Given the description of an element on the screen output the (x, y) to click on. 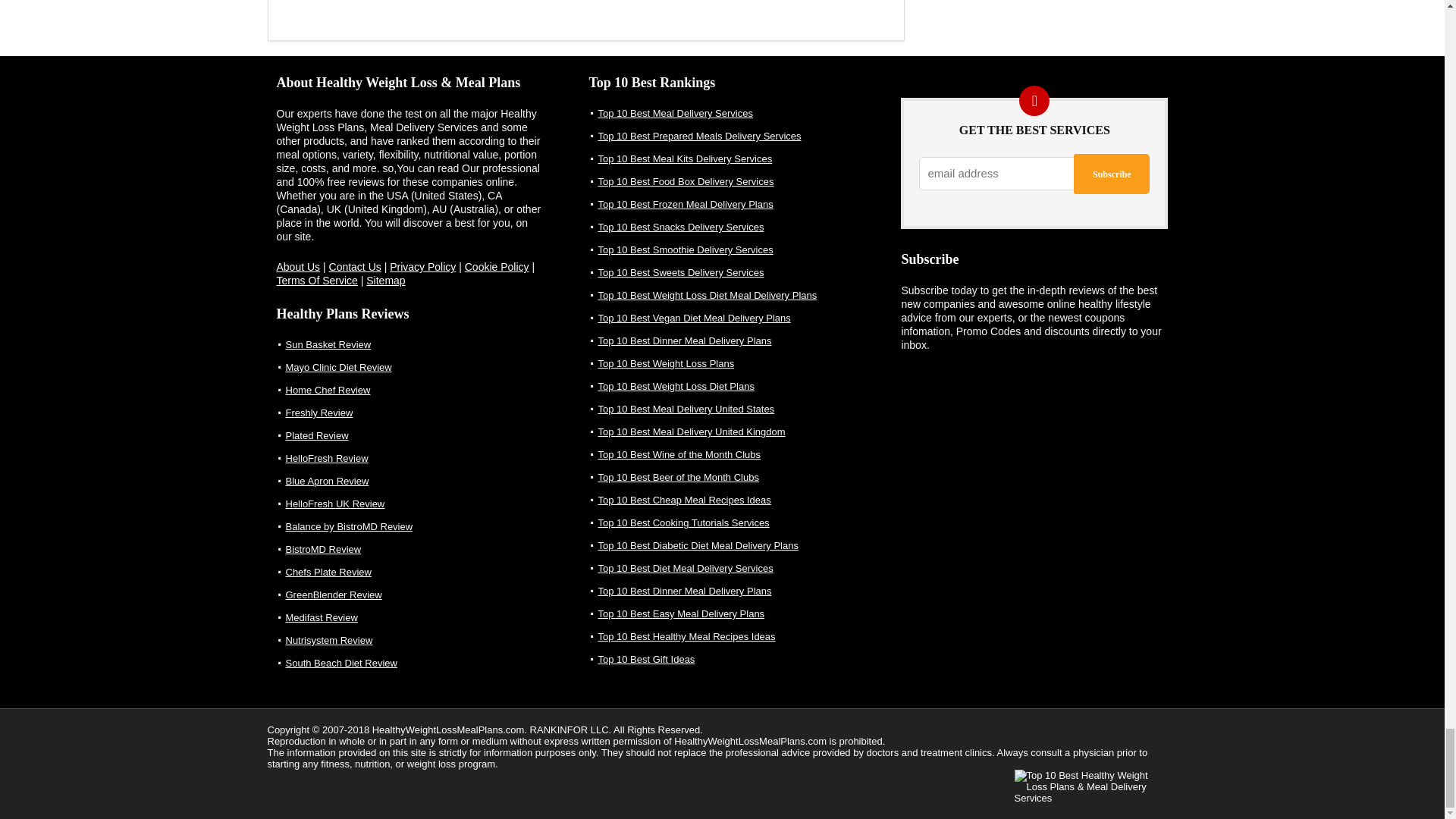
Subscribe (1112, 173)
